Given the description of an element on the screen output the (x, y) to click on. 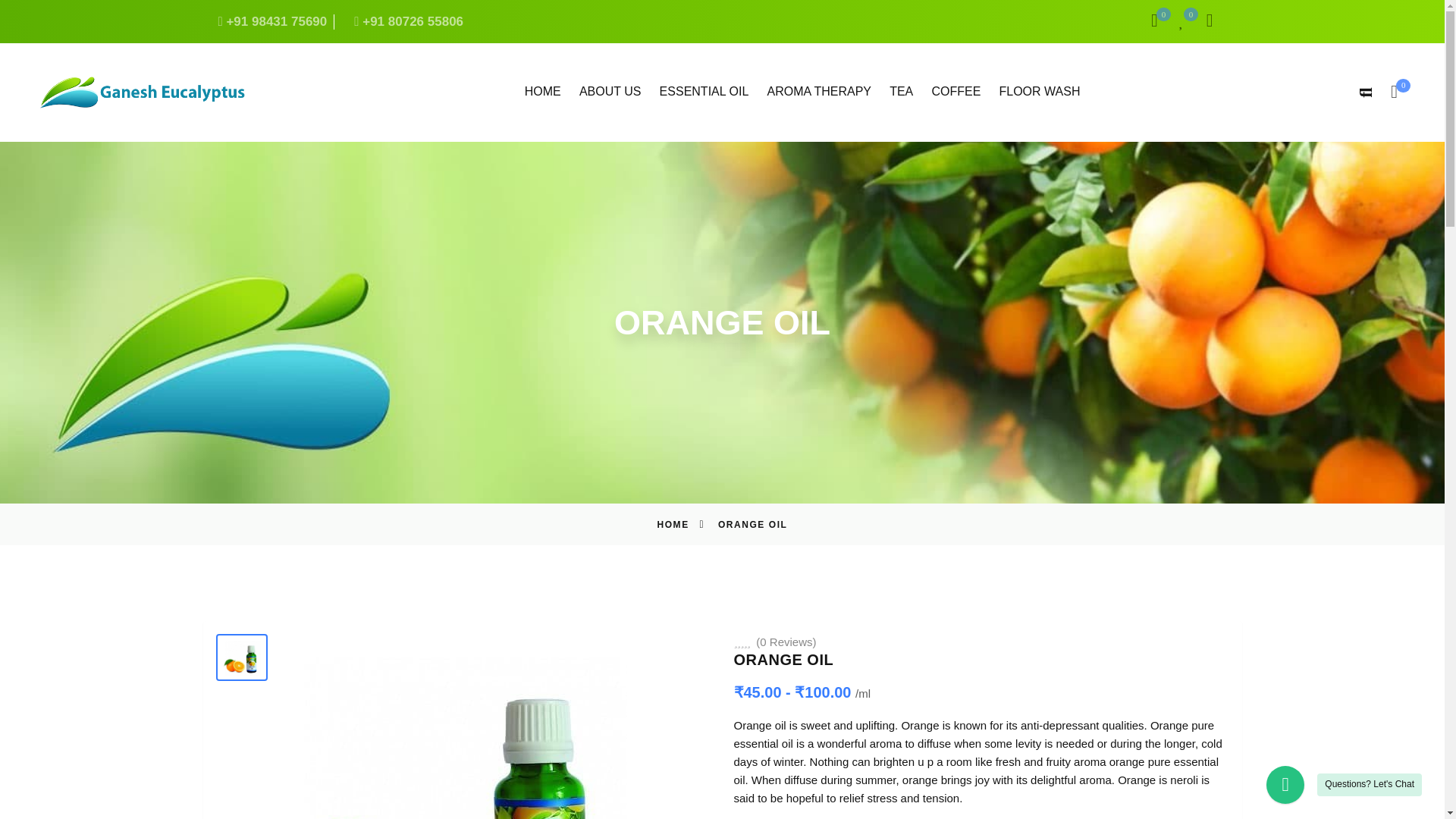
HOME (672, 524)
TEA (900, 93)
AROMA THERAPY (818, 93)
FLOOR WASH (1031, 21)
ABOUT US (1039, 93)
ESSENTIAL OIL (610, 93)
COFFEE (704, 93)
HOME (955, 93)
